Given the description of an element on the screen output the (x, y) to click on. 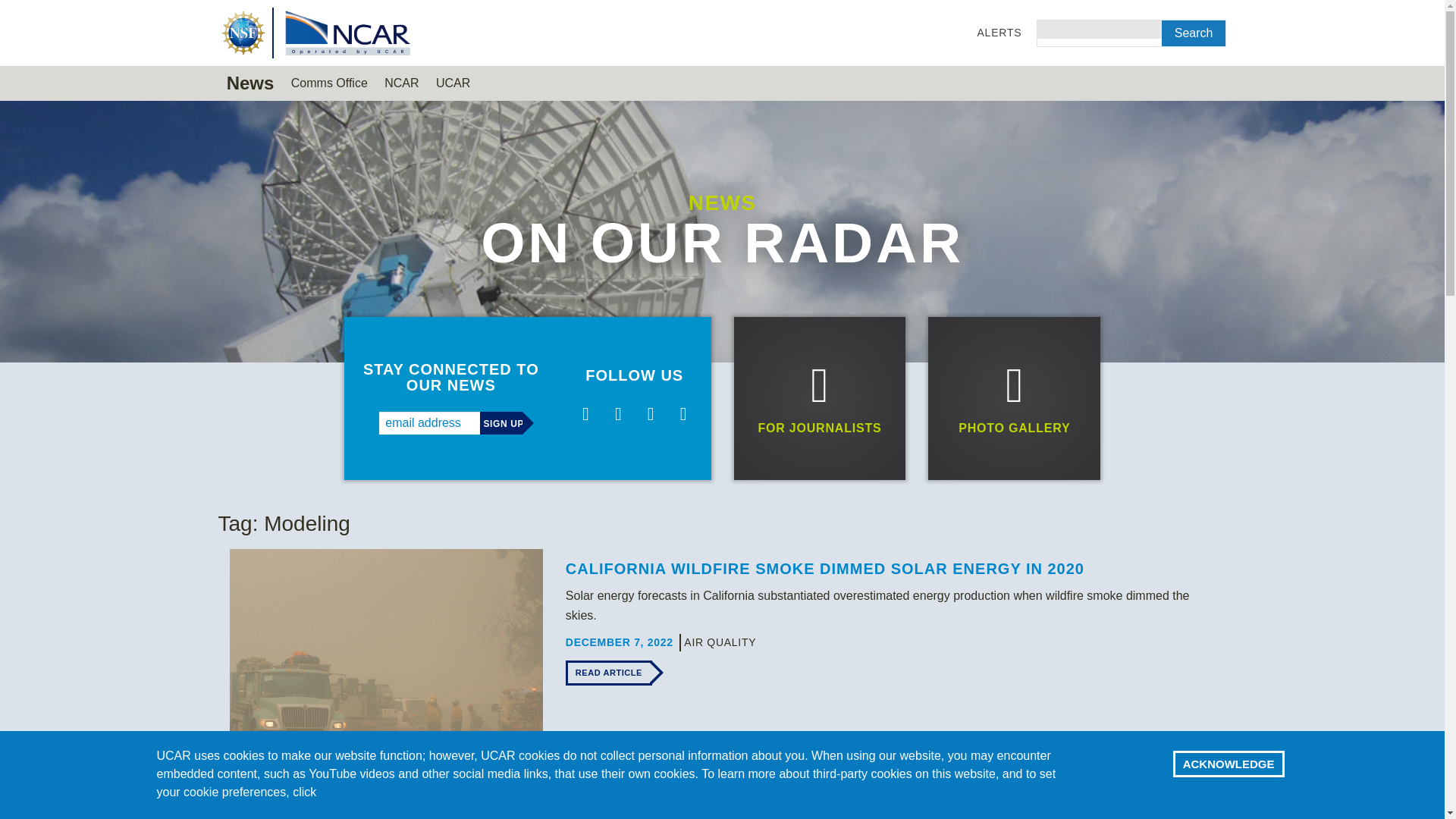
WILDFIRE SMOKE CAN AFFECT ARCTIC SEA ICE, NEW RESEARCH SHOWS (865, 812)
READ ARTICLE (609, 672)
U.S. NSF (243, 32)
NCAR (401, 82)
Sign Up (501, 422)
News (250, 83)
ALERTS (999, 32)
National Science Foundation (243, 32)
UCAR (449, 82)
Search (1193, 32)
Comms Office (328, 82)
CALIFORNIA WILDFIRE SMOKE DIMMED SOLAR ENERGY IN 2020 (825, 568)
